Given the description of an element on the screen output the (x, y) to click on. 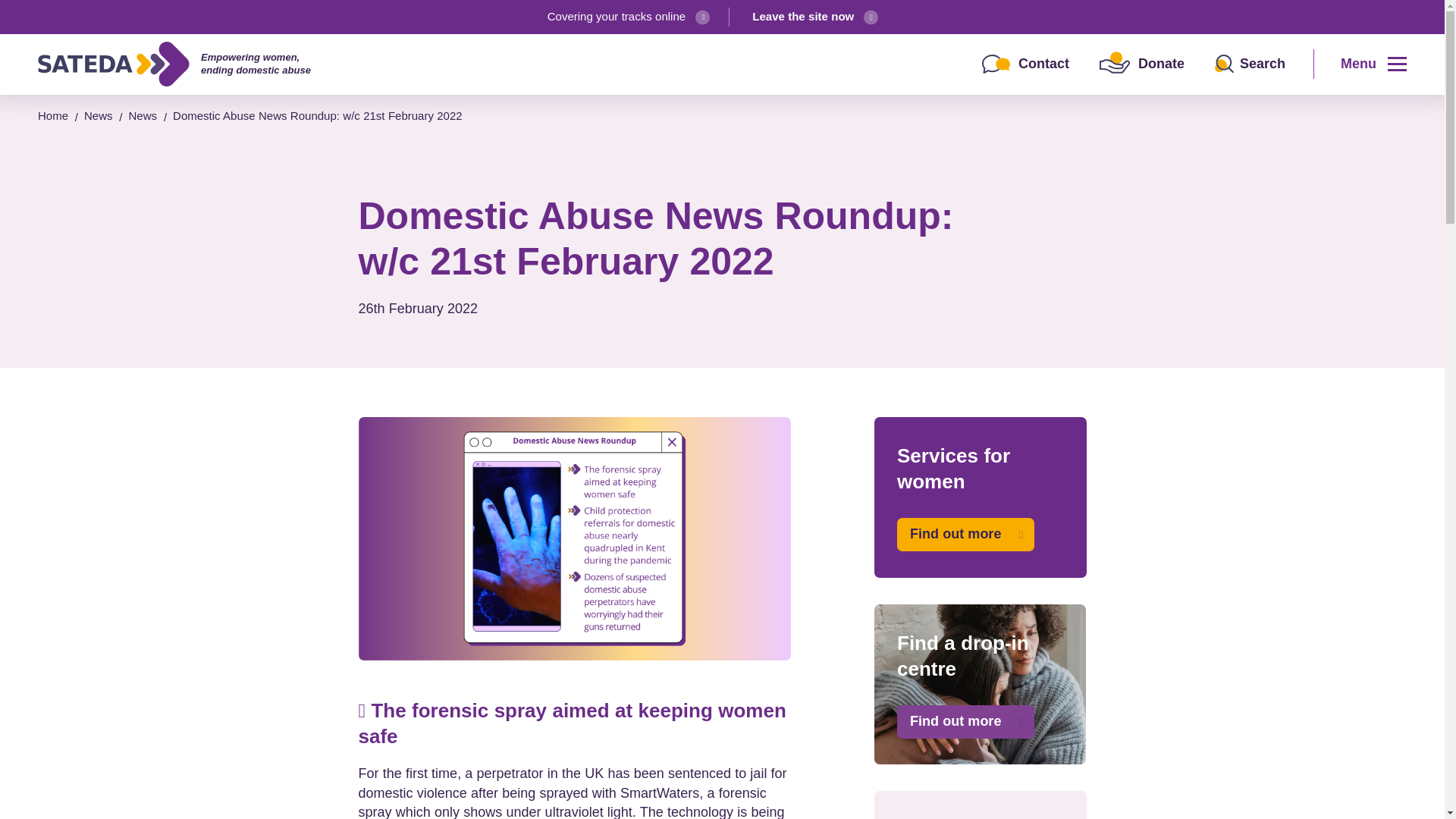
Go to News. (98, 115)
Go to the News Categories archives. (143, 115)
Go to SATEDA. (52, 115)
